Given the description of an element on the screen output the (x, y) to click on. 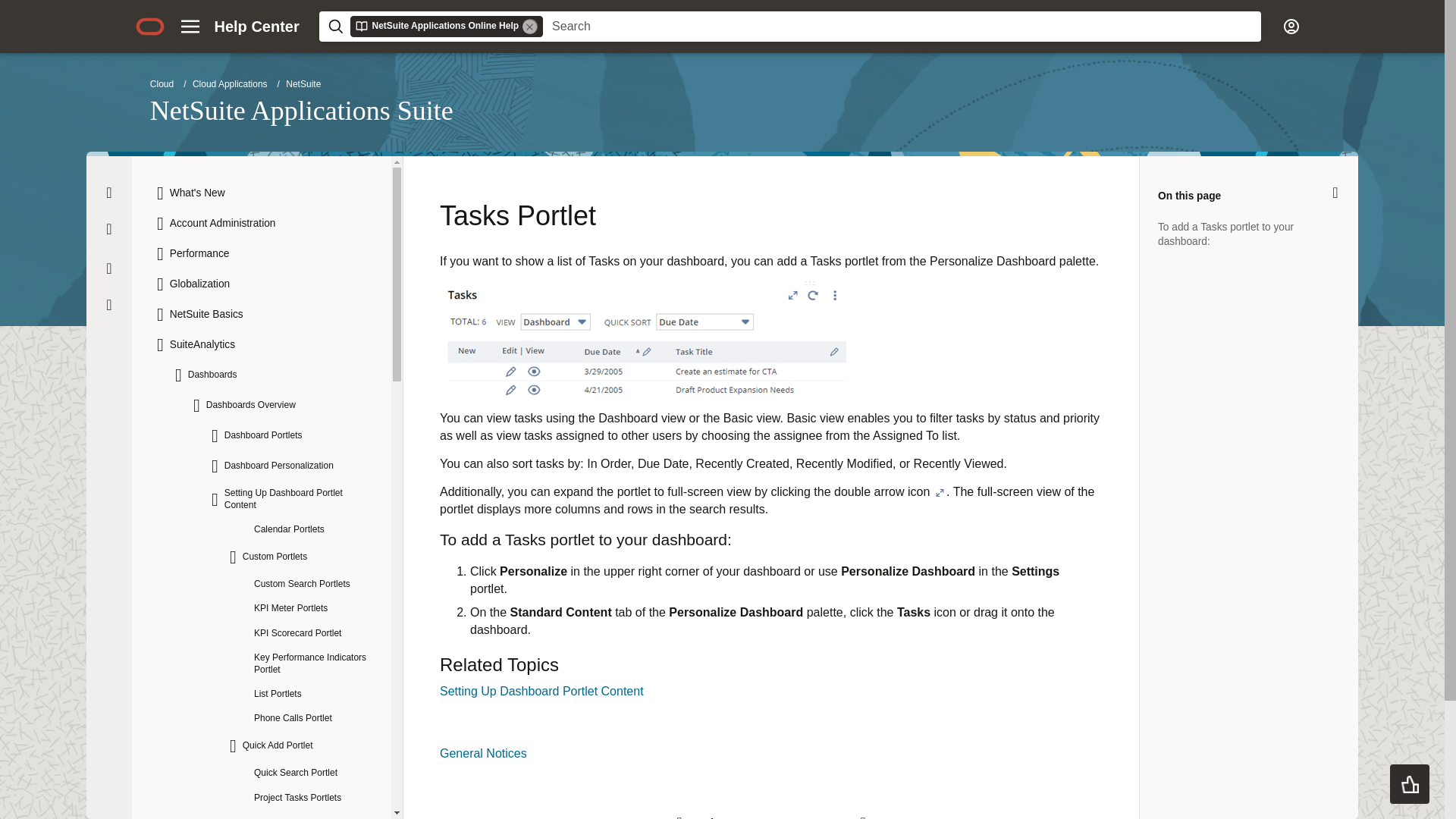
Table of Contents (109, 267)
Close (109, 192)
Close (1335, 192)
Expand All (108, 228)
Share on Social Media (109, 304)
